Given the description of an element on the screen output the (x, y) to click on. 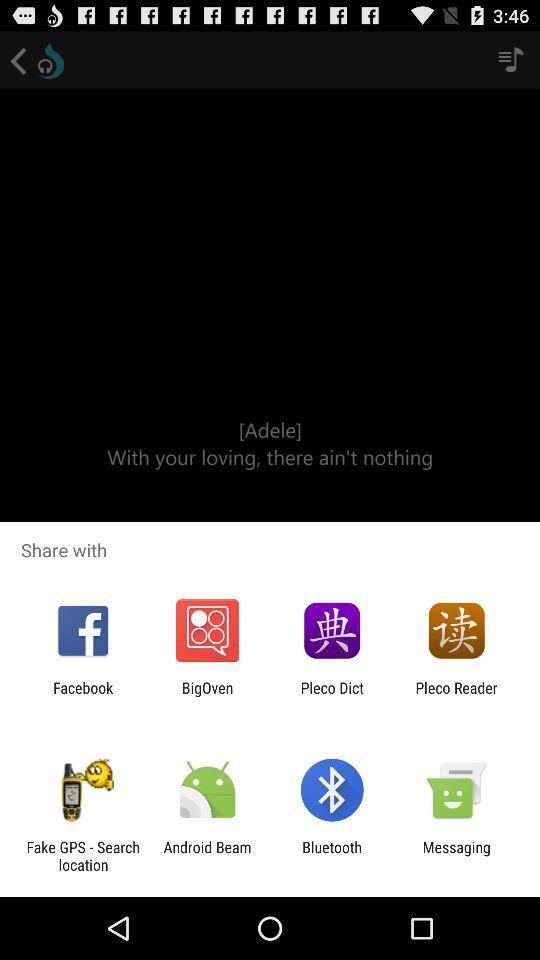
select the messaging app (456, 856)
